Given the description of an element on the screen output the (x, y) to click on. 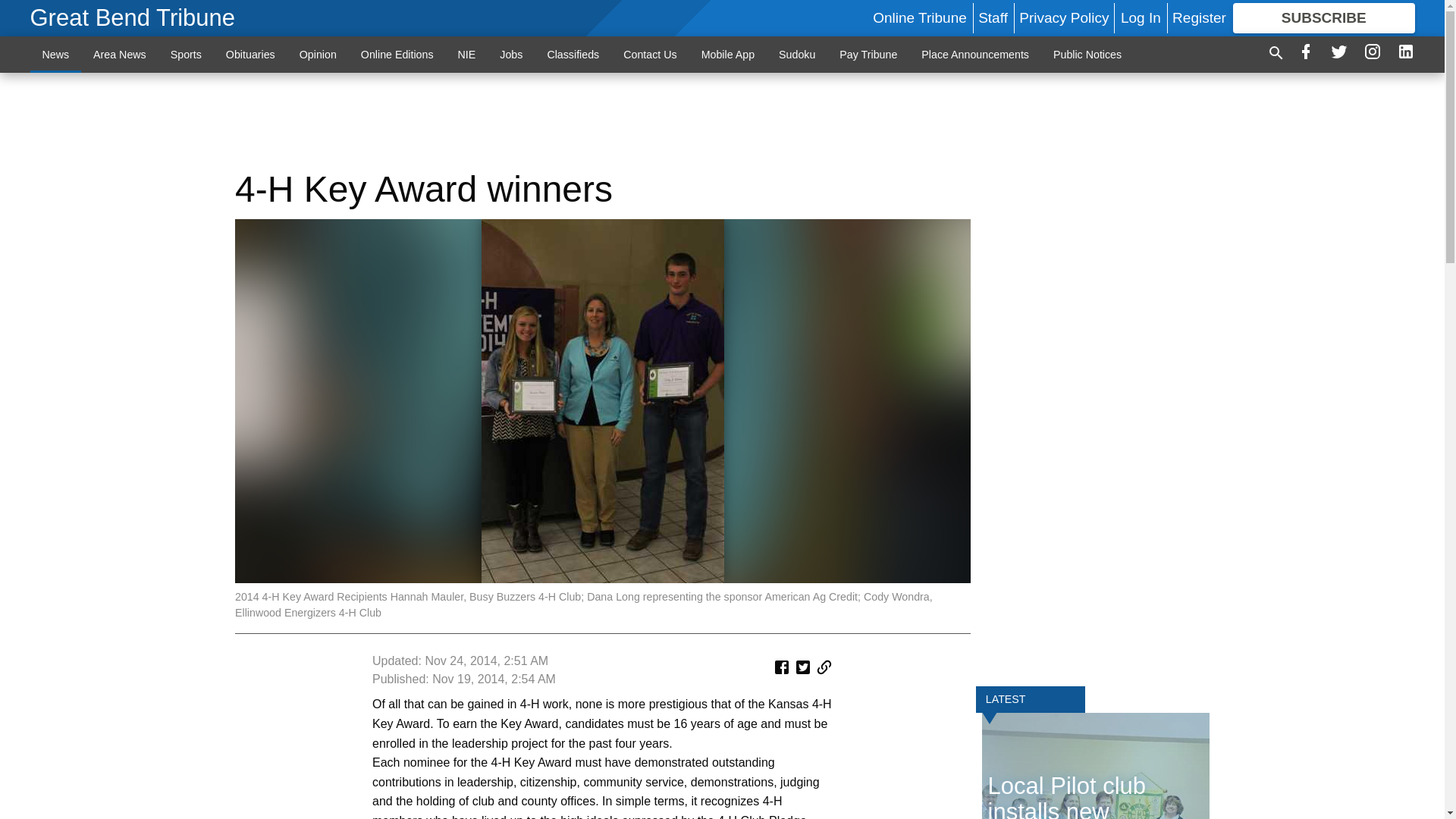
Online Tribune (919, 17)
Great Bend Tribune (132, 17)
Jobs (510, 54)
Obituaries (250, 54)
Public Notices (1087, 54)
Classifieds (572, 54)
Contact Us (649, 54)
Opinion (317, 54)
Log In (1140, 17)
Pay Tribune (867, 54)
Online Editions (397, 54)
Staff (992, 17)
Sudoku (797, 54)
Area News (119, 54)
SUBSCRIBE (1324, 18)
